Given the description of an element on the screen output the (x, y) to click on. 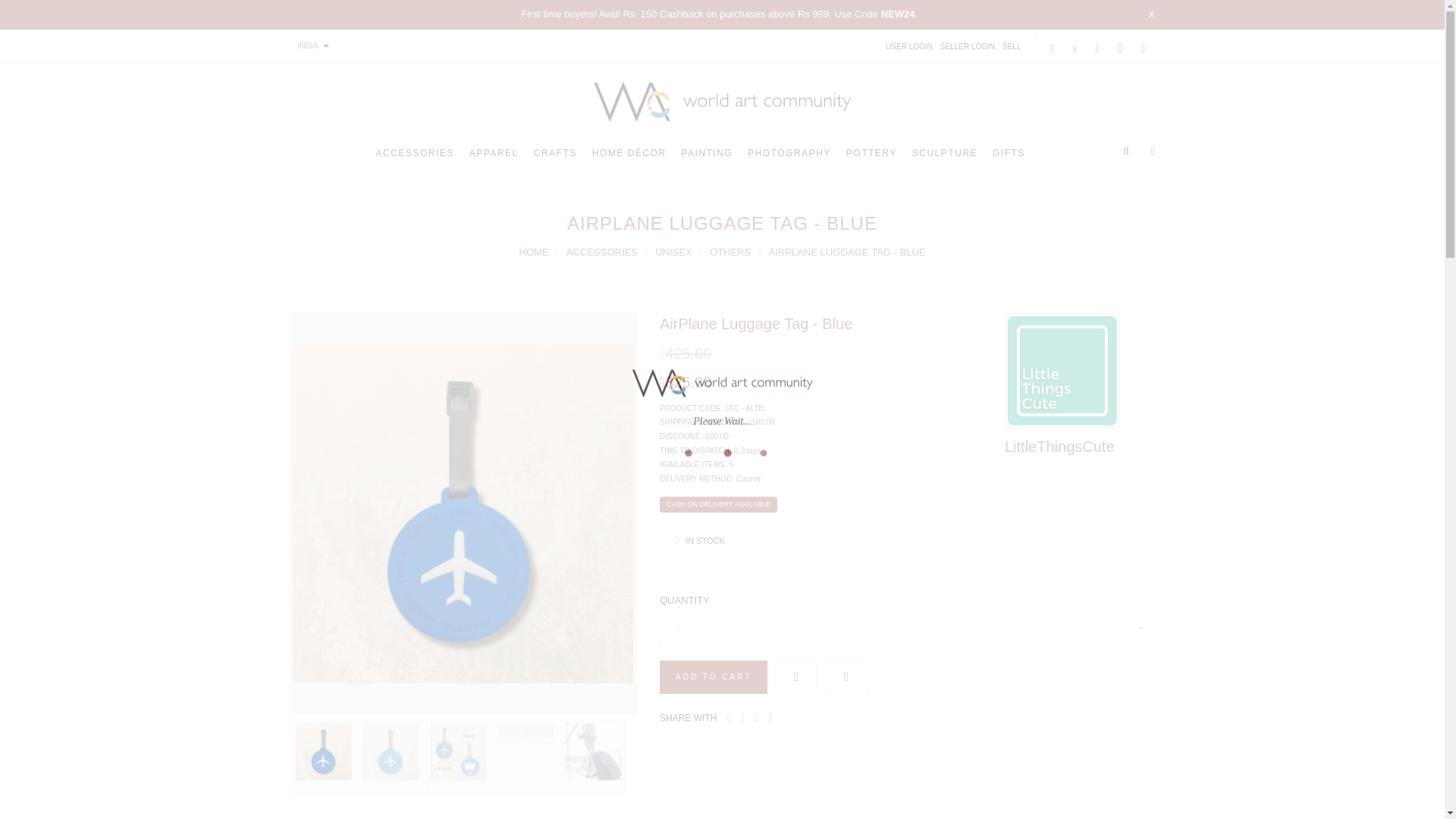
USER LOGIN (909, 46)
SELLER LOGIN (967, 46)
Report this item (846, 676)
Add to favorites (795, 676)
ACCESSORIES (414, 158)
SELL (1011, 46)
1 (906, 628)
